Given the description of an element on the screen output the (x, y) to click on. 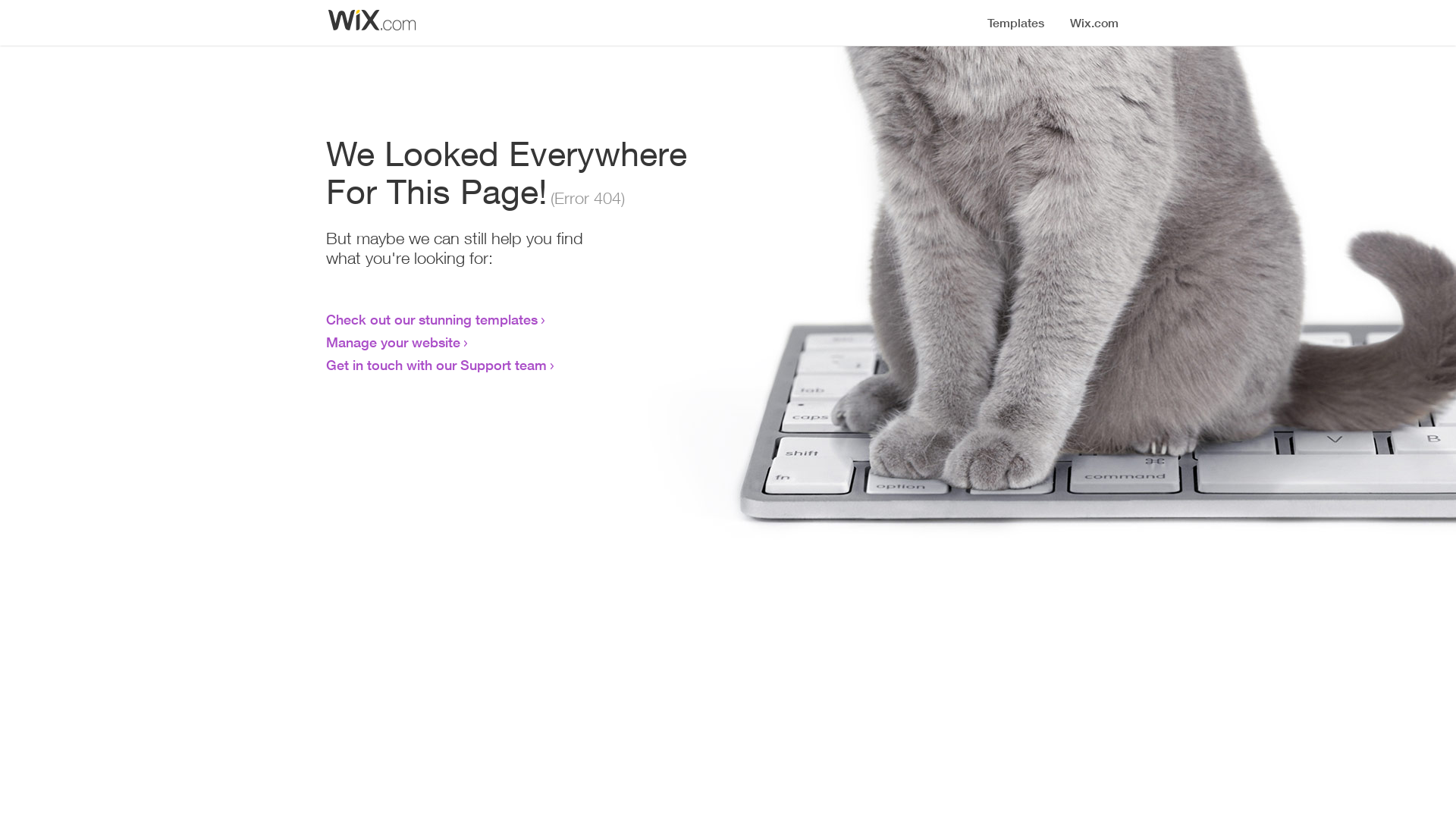
Get in touch with our Support team Element type: text (436, 364)
Check out our stunning templates Element type: text (431, 318)
Manage your website Element type: text (393, 341)
